Given the description of an element on the screen output the (x, y) to click on. 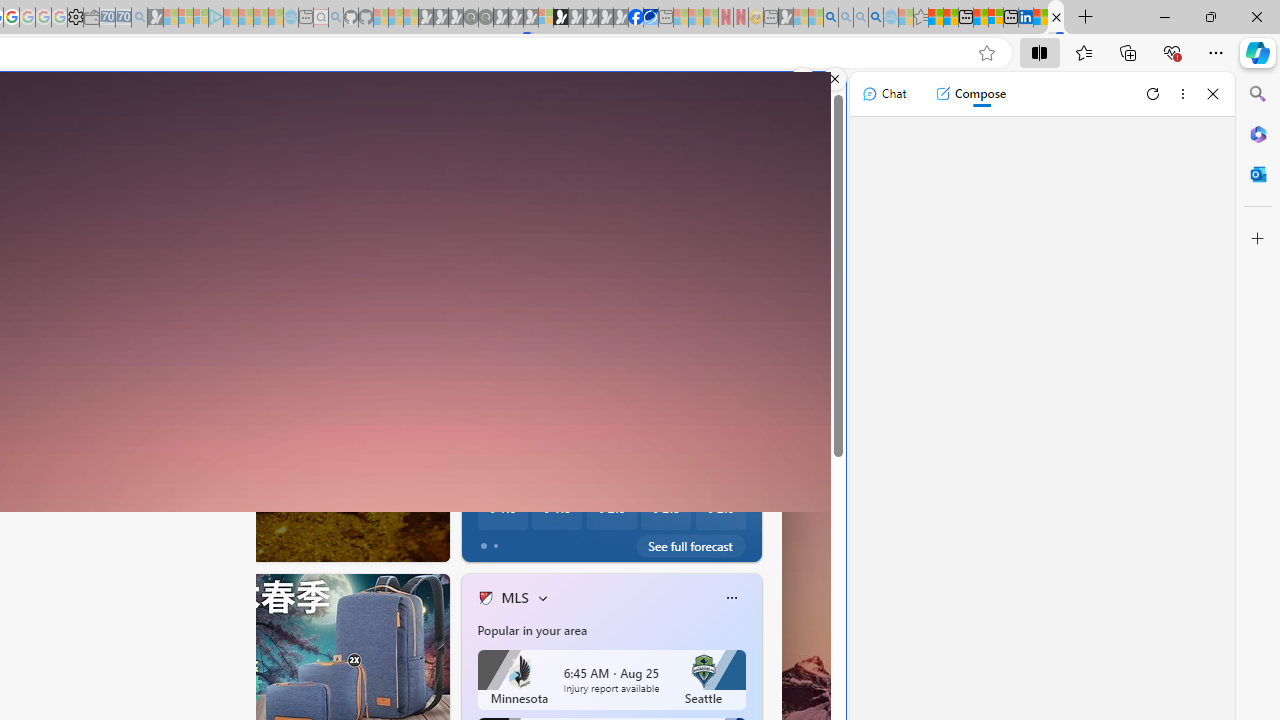
199 Like (490, 541)
AutomationID: tab-16 (103, 542)
AutomationID: tab-22 (157, 542)
AutomationID: tab-15 (88, 542)
What If (477, 473)
UV will be very high starting at 12 PM (739, 333)
